Given the description of an element on the screen output the (x, y) to click on. 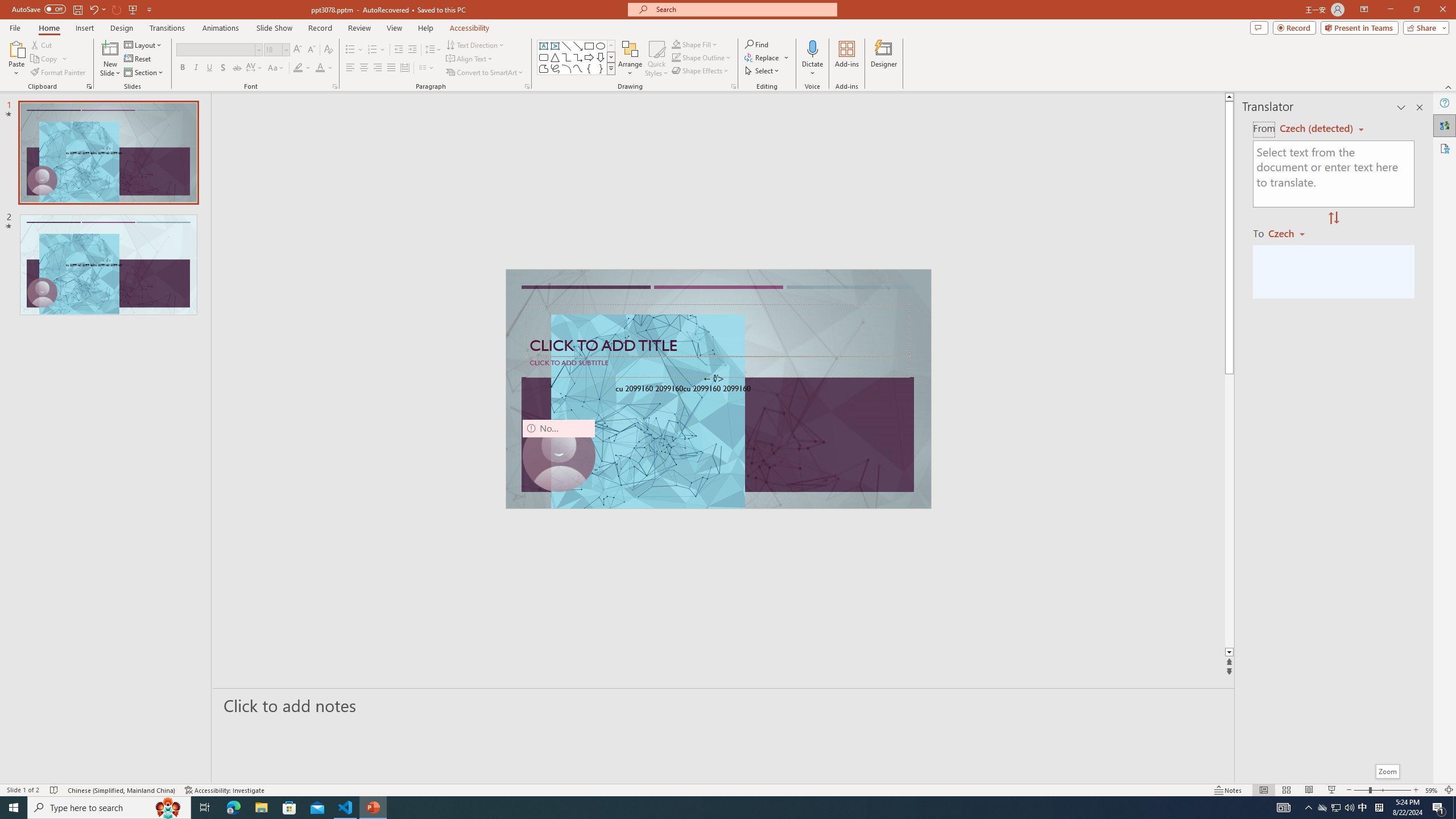
Shape Outline Green, Accent 1 (675, 56)
TextBox 61 (717, 389)
